Given the description of an element on the screen output the (x, y) to click on. 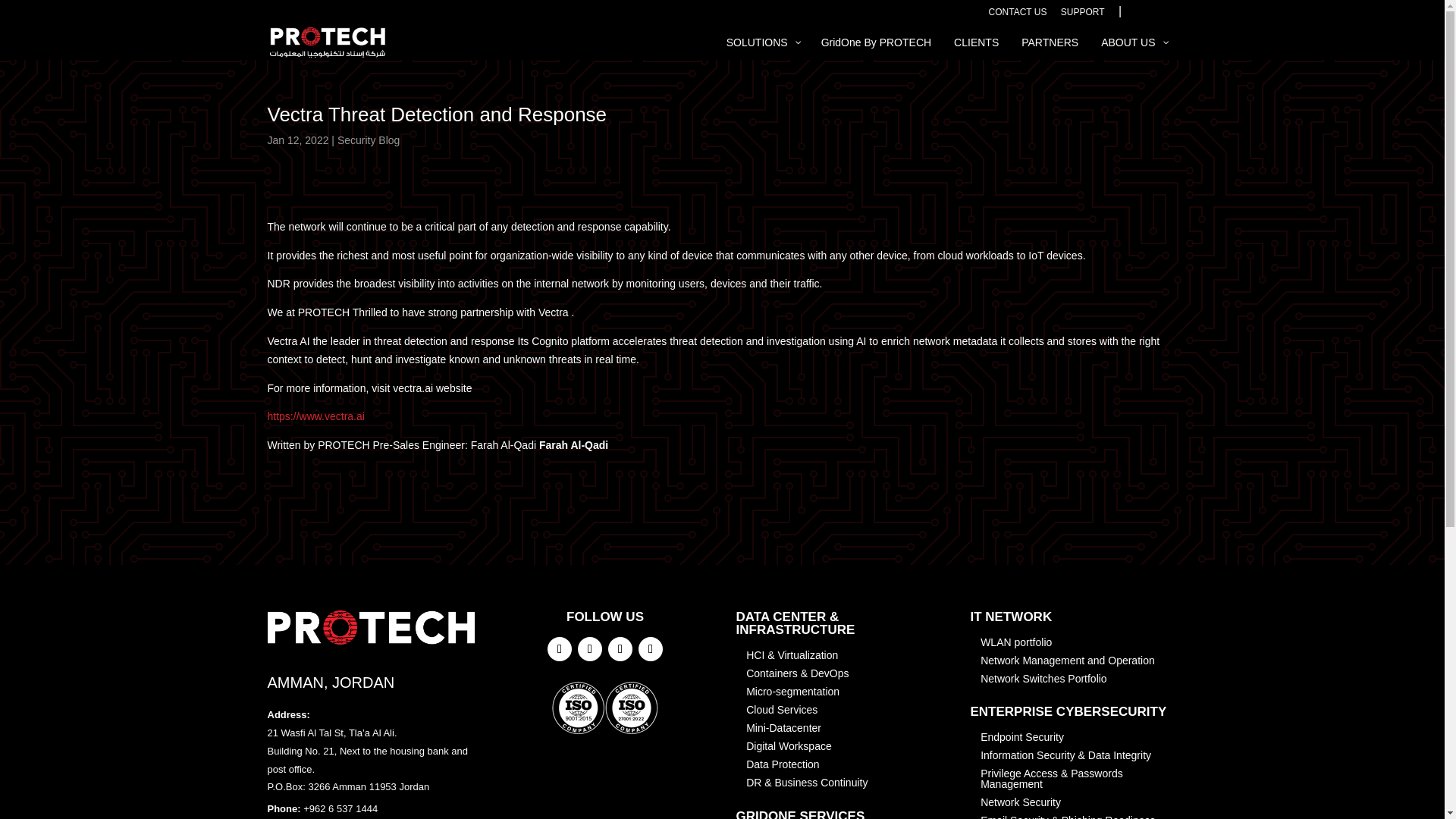
Follow on LinkedIn (619, 648)
GridOne By PROTECH (875, 47)
Follow on Facebook (559, 648)
ISO Certifications (604, 707)
SUPPORT (1083, 15)
CONTACT US (1017, 15)
CLIENTS (976, 47)
Follow on Youtube (650, 648)
SOLUTIONS (761, 47)
logo-02 (370, 627)
Follow on Twitter (590, 648)
ABOUT US (1132, 47)
PARTNERS (1049, 47)
